Given the description of an element on the screen output the (x, y) to click on. 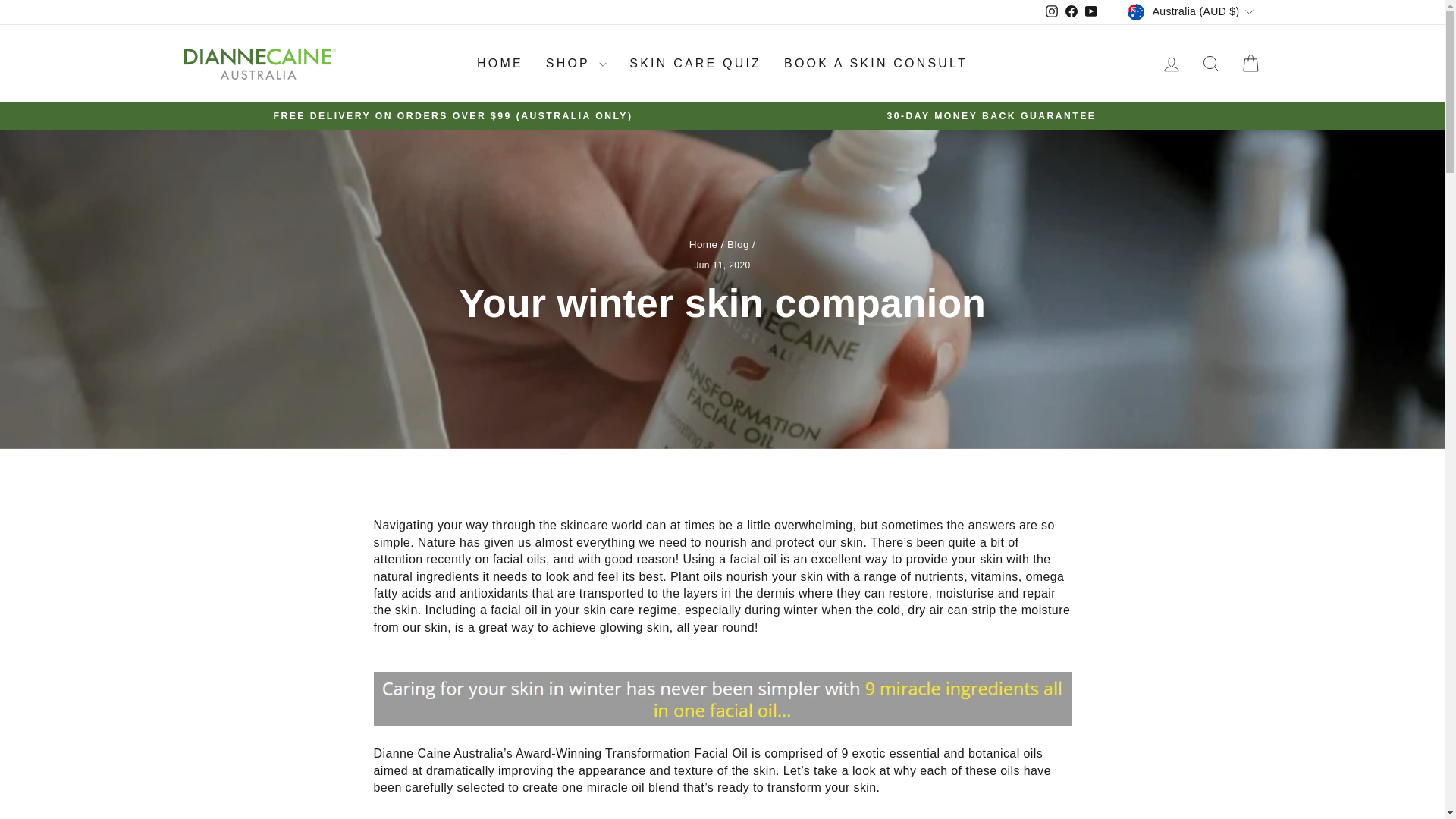
ICON-SEARCH (1210, 63)
Dianne Caine Australia  on Facebook (1071, 12)
ACCOUNT (1170, 64)
Dianne Caine Australia  on YouTube (1090, 12)
instagram (1051, 10)
Back to the frontpage (702, 244)
Dianne Caine Australia  on Instagram (1051, 12)
